Given the description of an element on the screen output the (x, y) to click on. 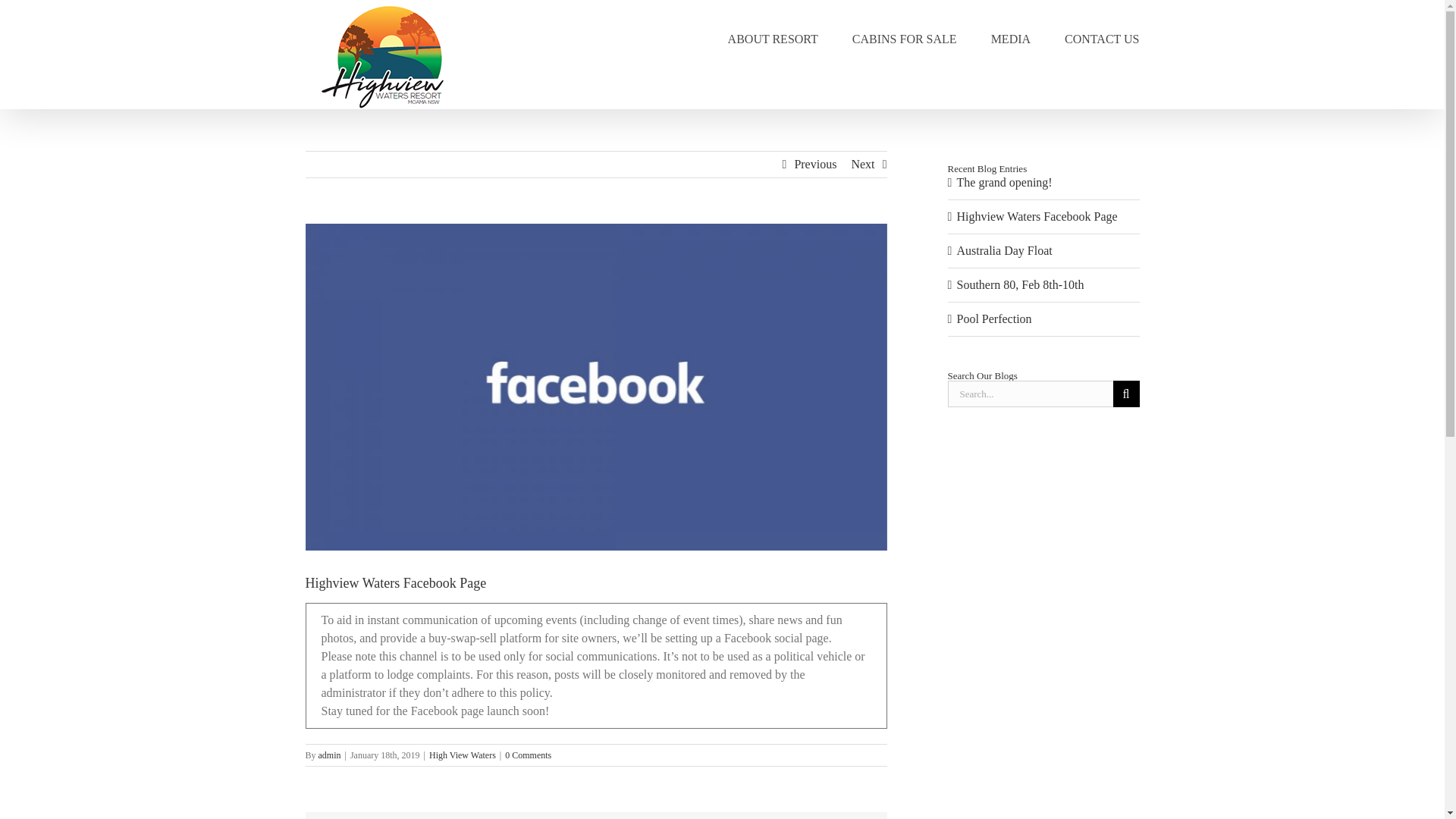
Posts by admin (329, 755)
High View Waters (462, 755)
ABOUT RESORT (773, 38)
Previous (814, 164)
0 Comments (528, 755)
CONTACT US (1101, 38)
CABINS FOR SALE (903, 38)
admin (329, 755)
Next (862, 164)
MEDIA (1010, 38)
